Given the description of an element on the screen output the (x, y) to click on. 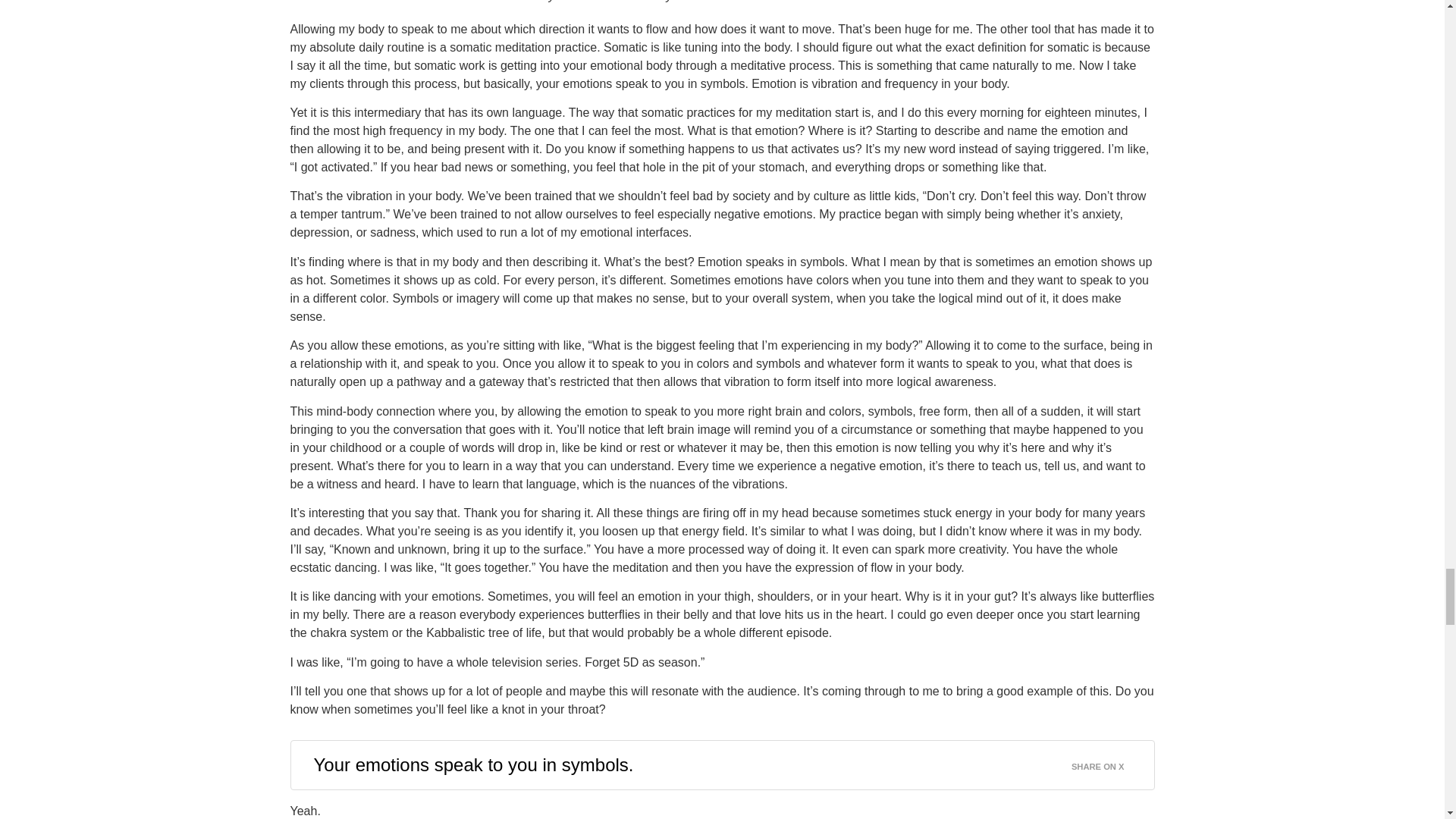
SHARE ON X (1106, 762)
Your emotions speak to you in symbols. (473, 764)
